Given the description of an element on the screen output the (x, y) to click on. 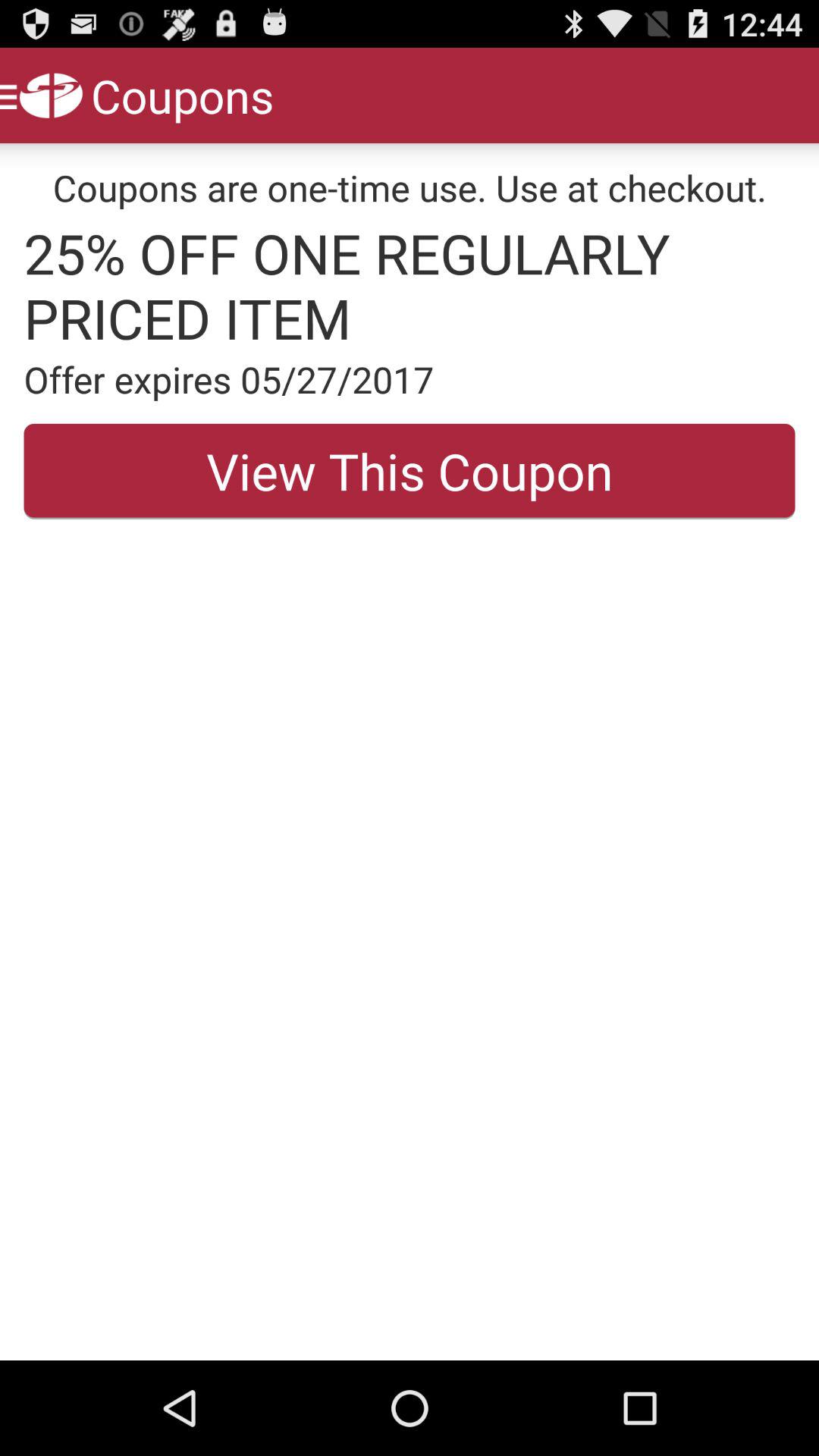
press the view this coupon button (409, 471)
